Given the description of an element on the screen output the (x, y) to click on. 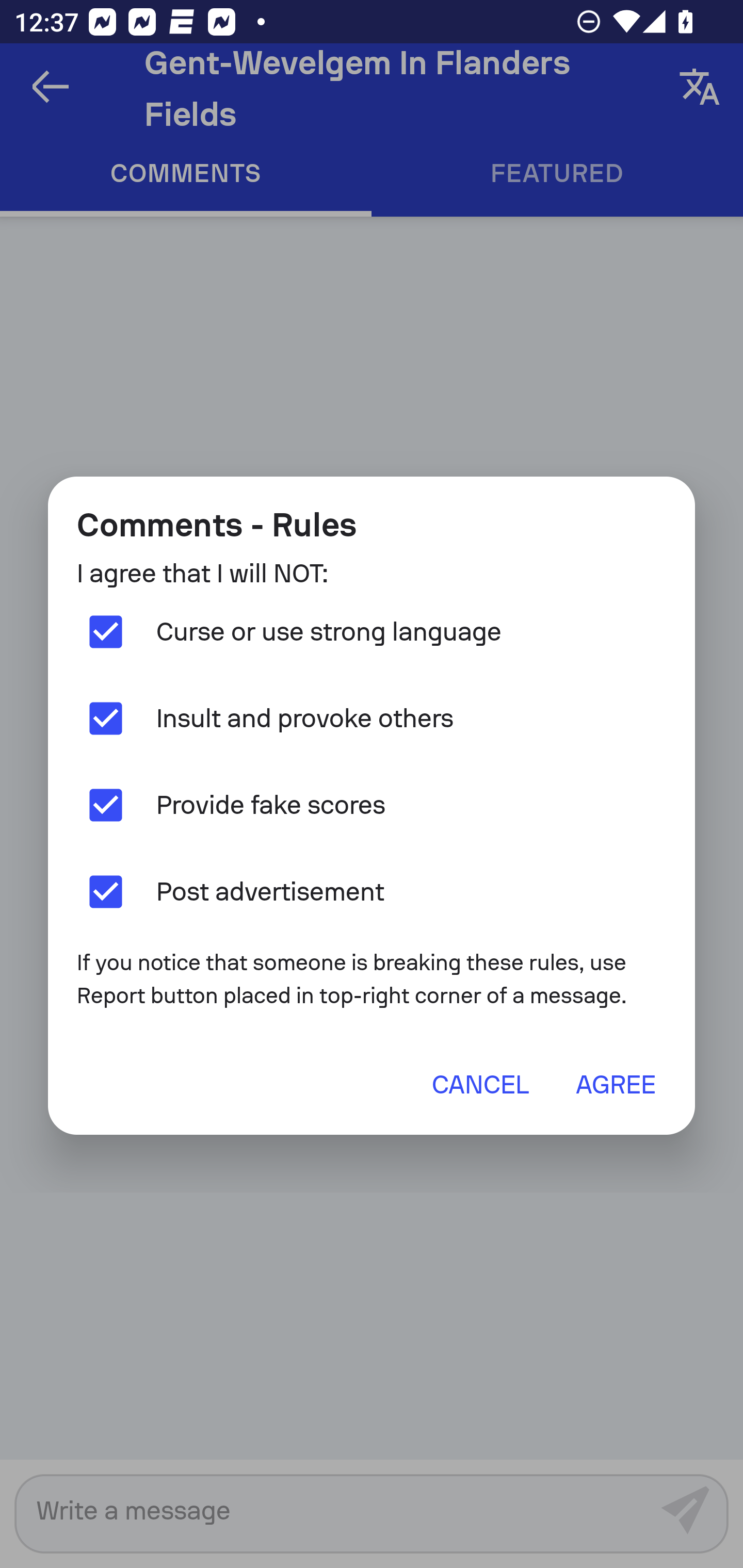
Curse or use strong language (371, 631)
Insult and provoke others (371, 718)
Provide fake scores (371, 805)
Post advertisement (371, 891)
CANCEL (479, 1084)
AGREE (615, 1084)
